Given the description of an element on the screen output the (x, y) to click on. 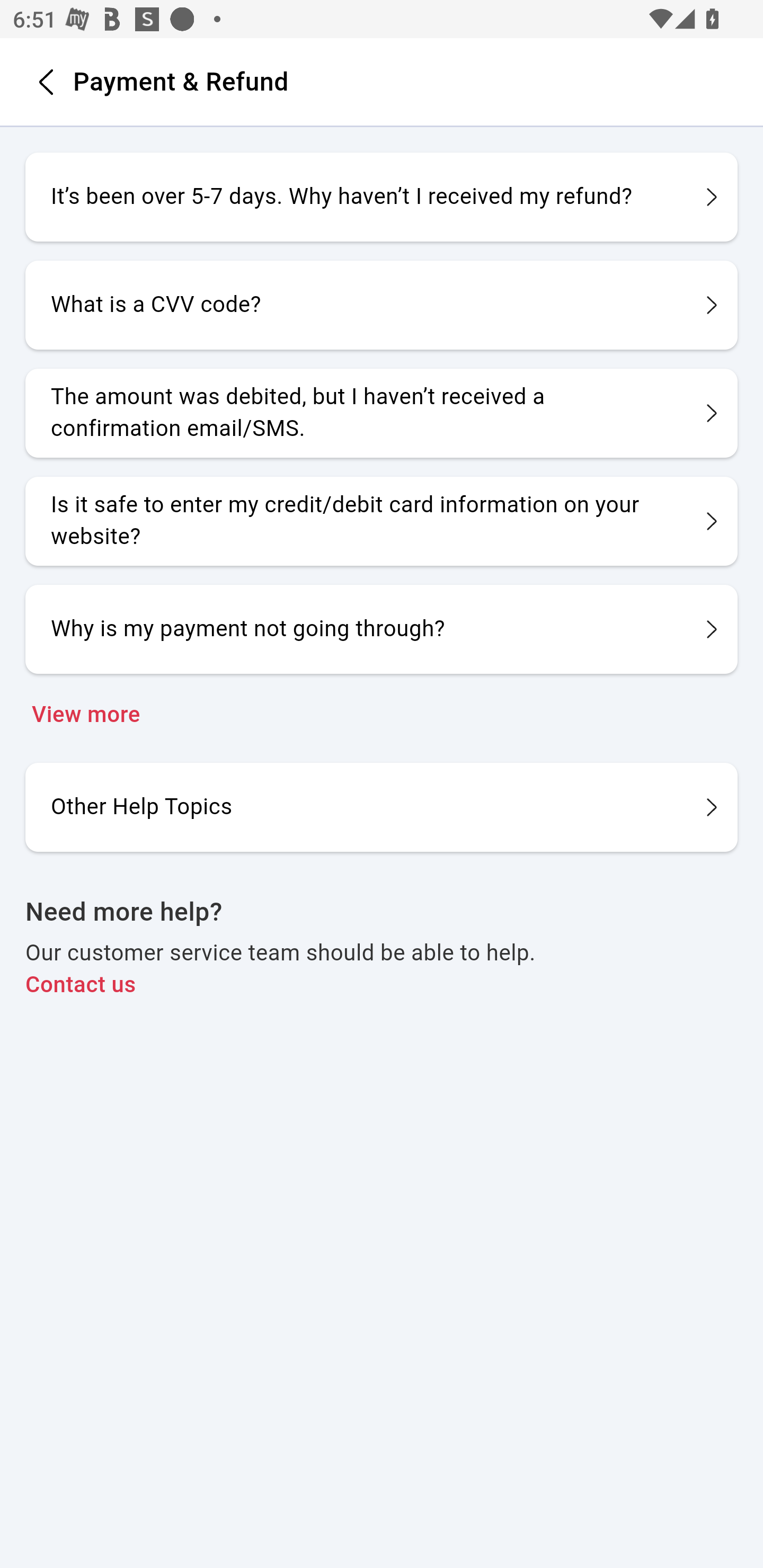
What is a CVV code? (381, 304)
Why is my payment not going through? (381, 629)
View more (381, 714)
Other Help Topics (381, 806)
Contact us (381, 985)
